Given the description of an element on the screen output the (x, y) to click on. 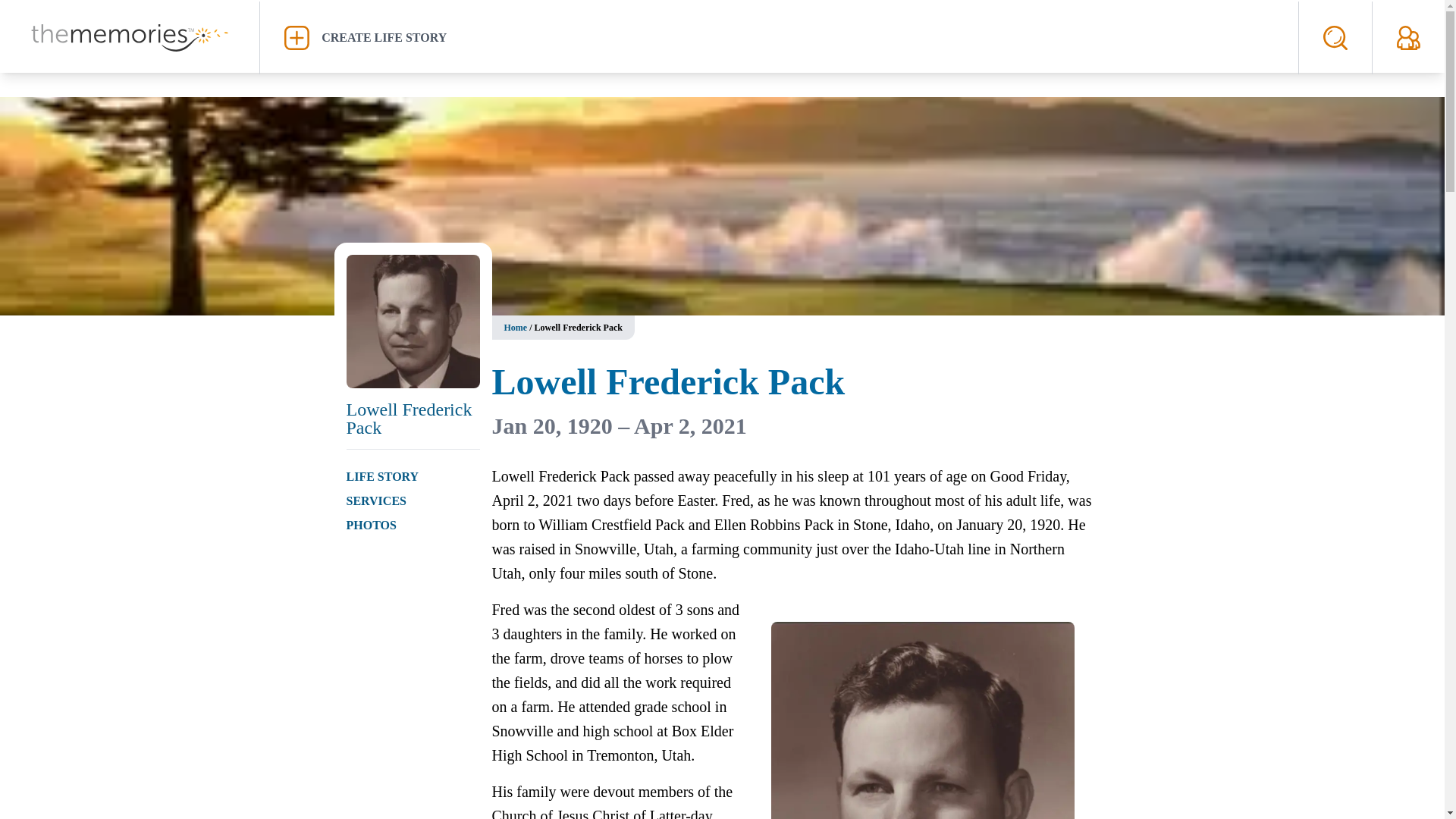
LIFE STORY (382, 476)
CREATE LIFE STORY (778, 37)
PHOTOS (371, 524)
Create a life story (778, 37)
My Account (1408, 37)
Home (515, 327)
SERVICES (376, 500)
